Given the description of an element on the screen output the (x, y) to click on. 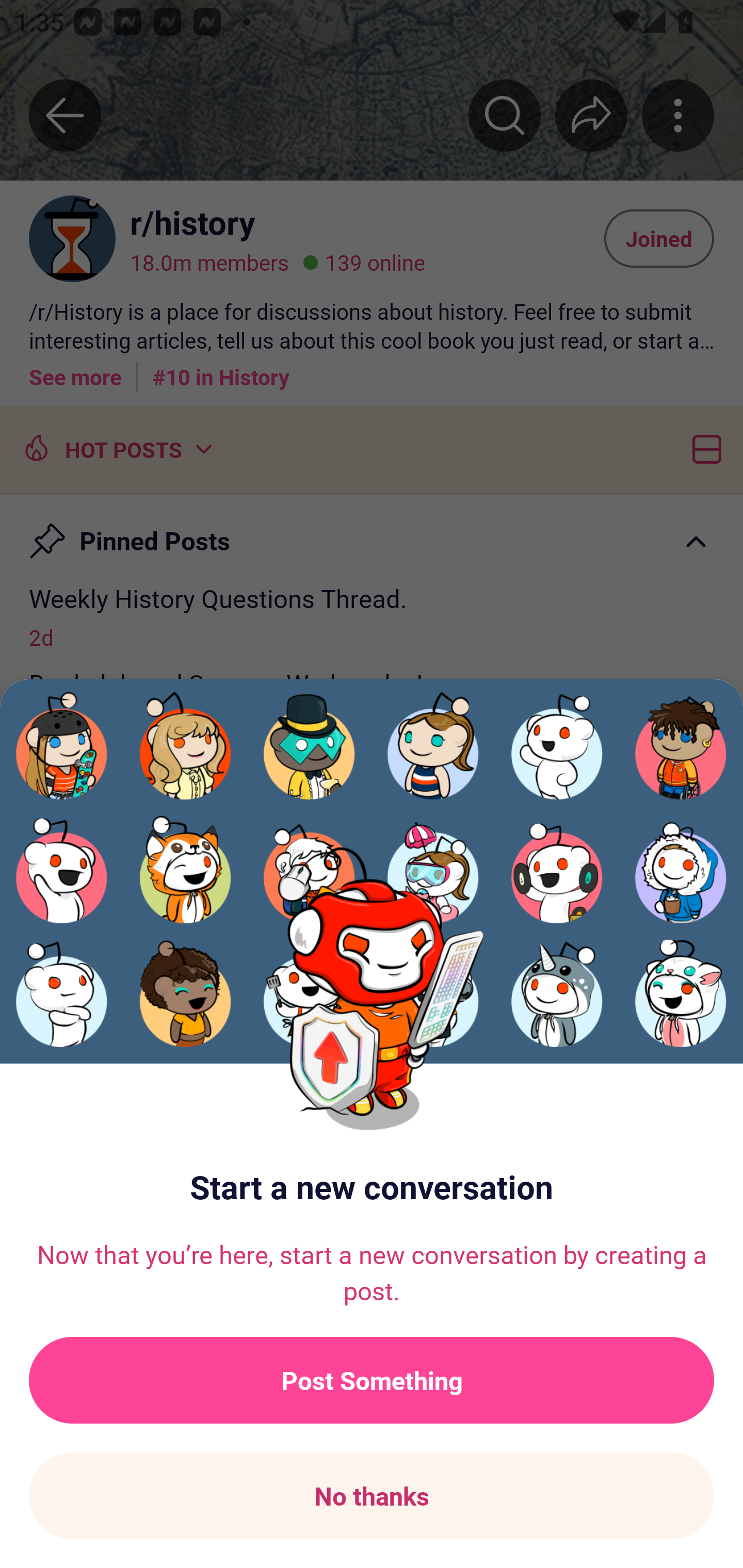
Post Something (371, 1380)
No thanks (371, 1495)
